Given the description of an element on the screen output the (x, y) to click on. 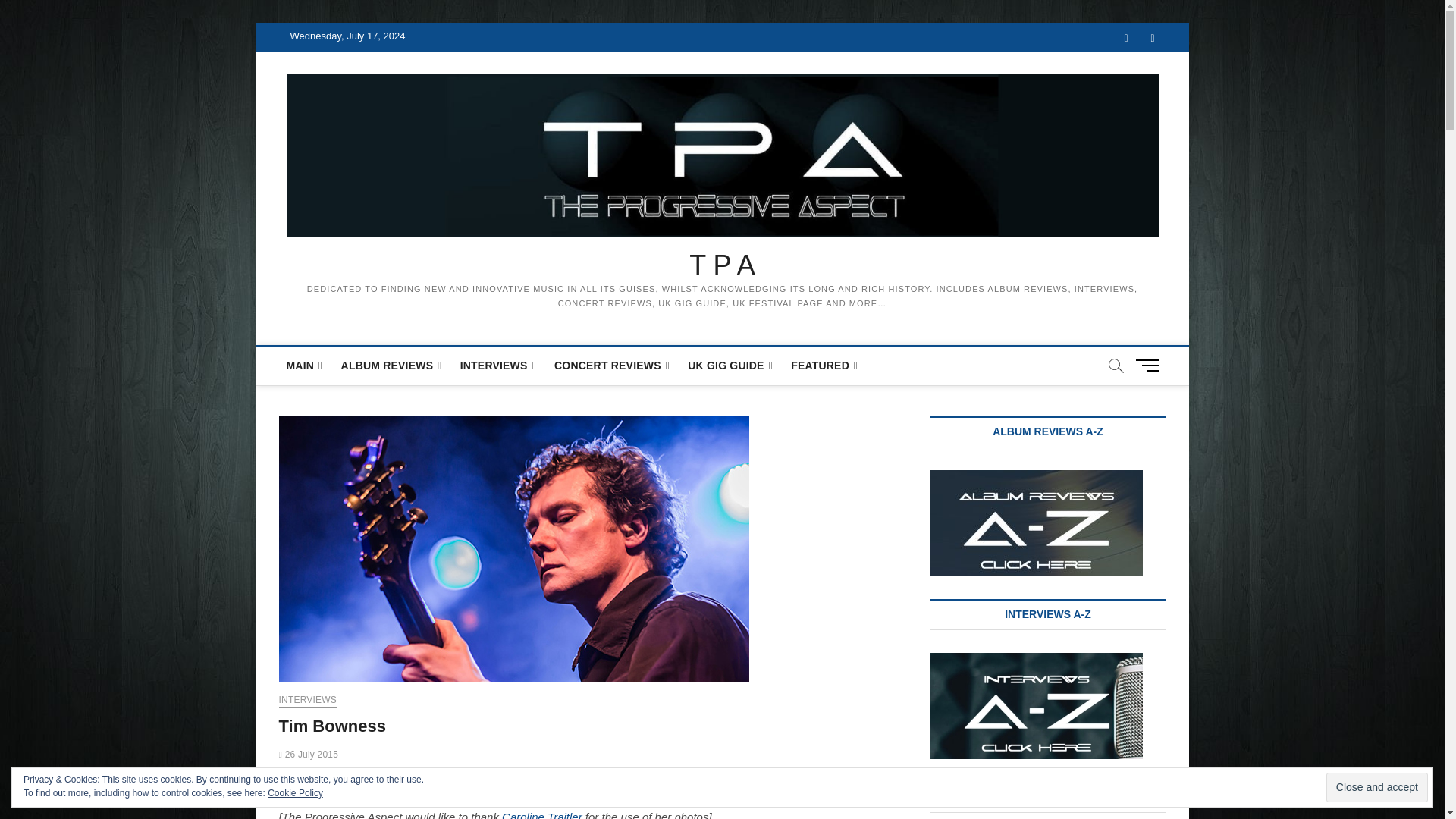
ALBUM REVIEWS (391, 365)
HERE (342, 799)
UK GIG GUIDE (729, 365)
INTERVIEWS (497, 365)
26 July 2015 (309, 754)
Concert Reviews (612, 365)
T P A (722, 264)
MAIN (304, 365)
Twitter (1152, 38)
Album Reviews (391, 365)
INTERVIEWS (307, 701)
Facebook (1126, 38)
Caroline Traitler (542, 814)
FEATURED (823, 365)
